Given the description of an element on the screen output the (x, y) to click on. 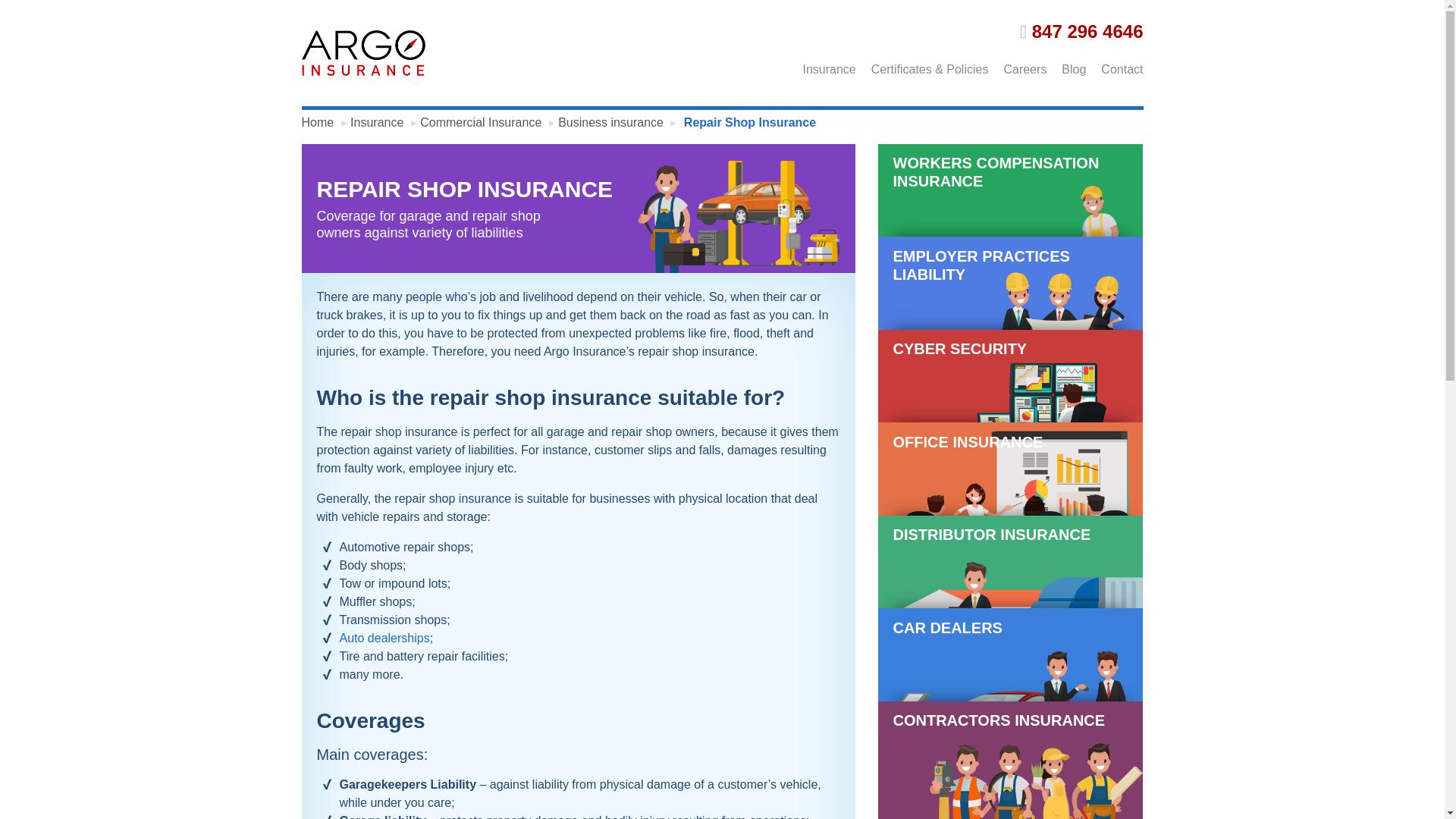
CONTRACTORS INSURANCE (1009, 760)
OFFICE INSURANCE (1009, 495)
Insurance (821, 67)
Commercial Insurance (480, 122)
Auto dealerships (384, 637)
Blog (1066, 67)
Business insurance (610, 122)
Careers (1017, 67)
CYBER SECURITY (1009, 402)
EMPLOYER PRACTICES LIABILITY (1009, 309)
